Given the description of an element on the screen output the (x, y) to click on. 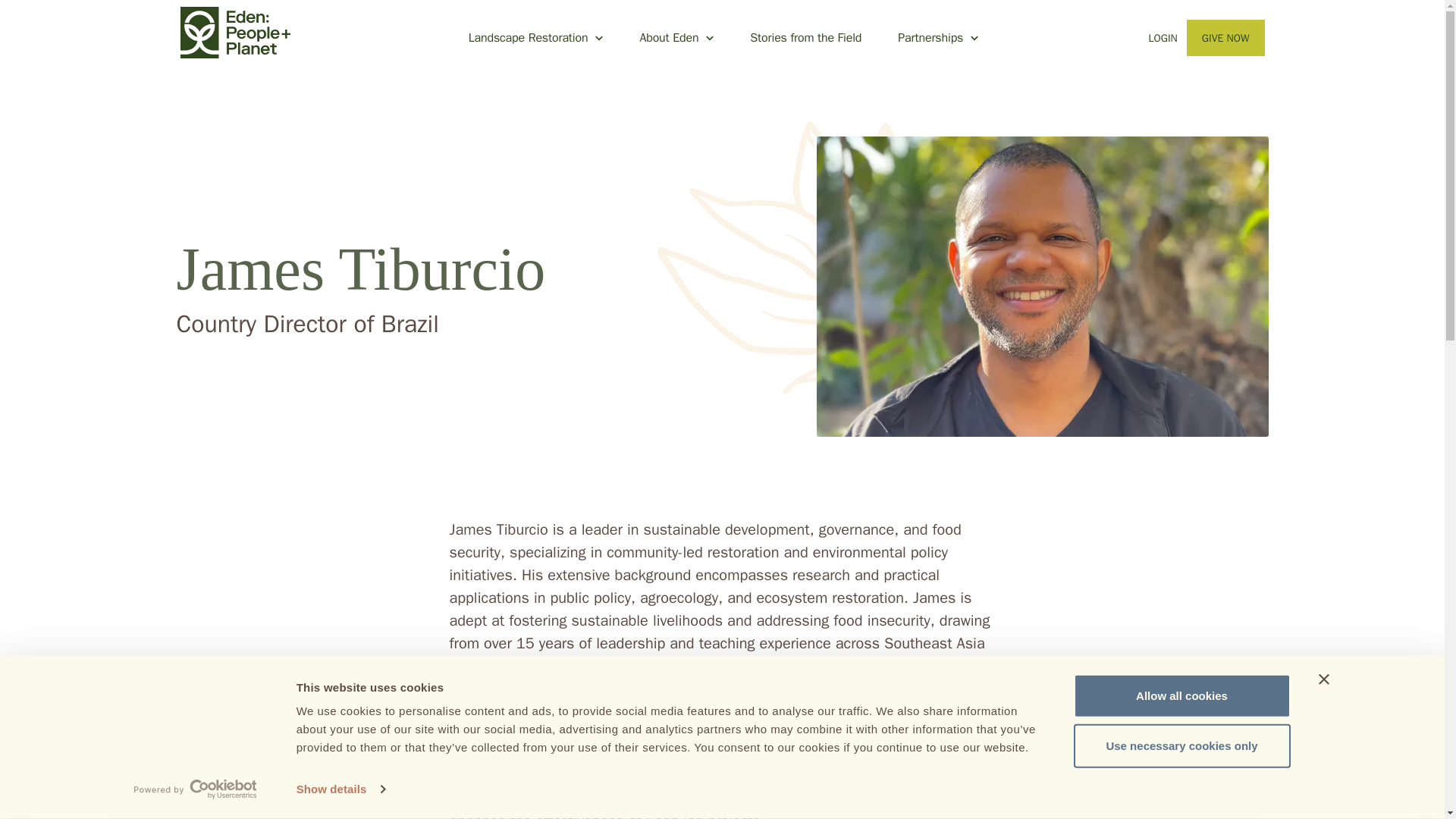
Show details (340, 789)
